Given the description of an element on the screen output the (x, y) to click on. 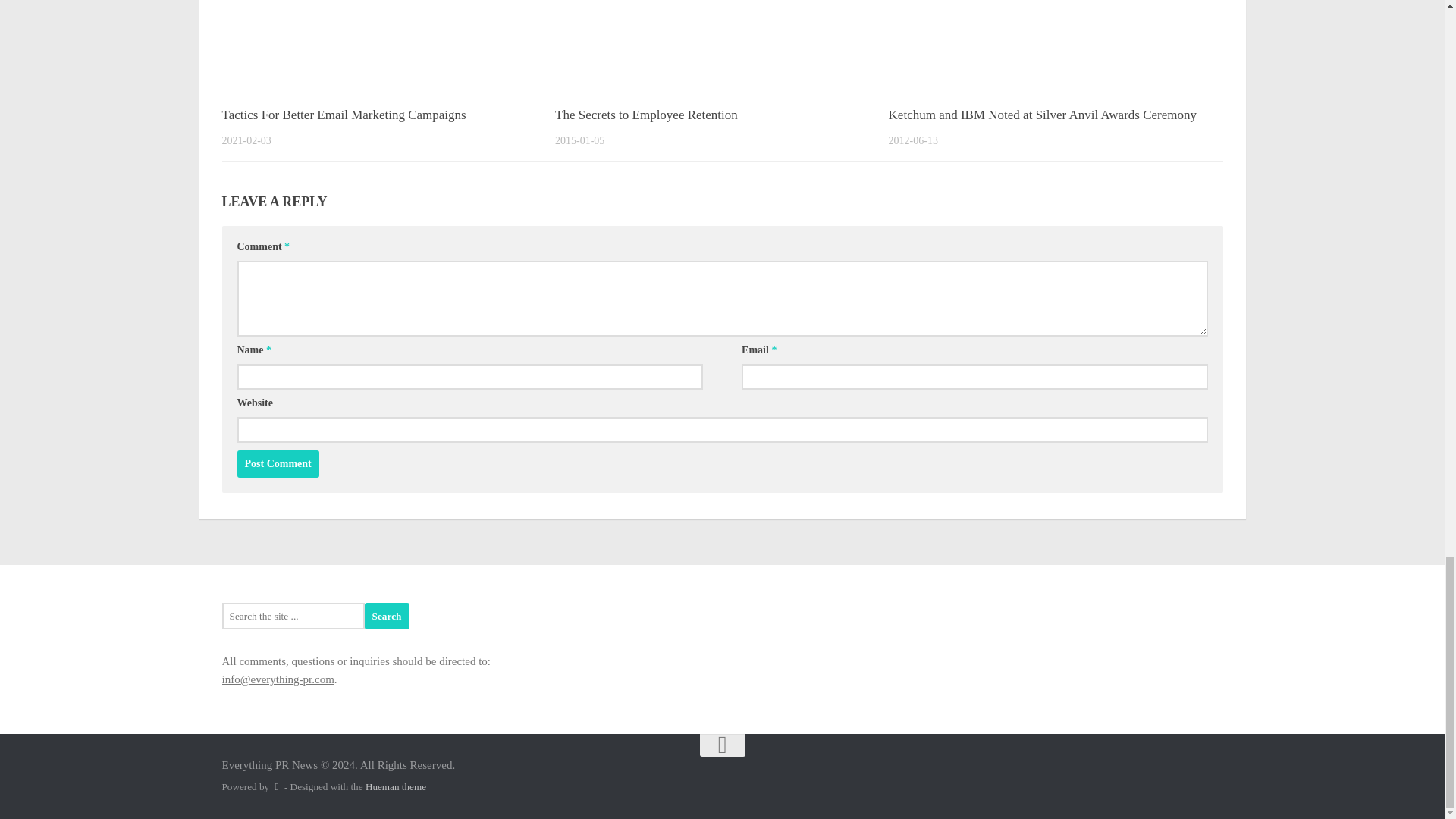
Hueman theme (395, 786)
Powered by WordPress (275, 786)
Post Comment (276, 463)
Search (386, 615)
